Given the description of an element on the screen output the (x, y) to click on. 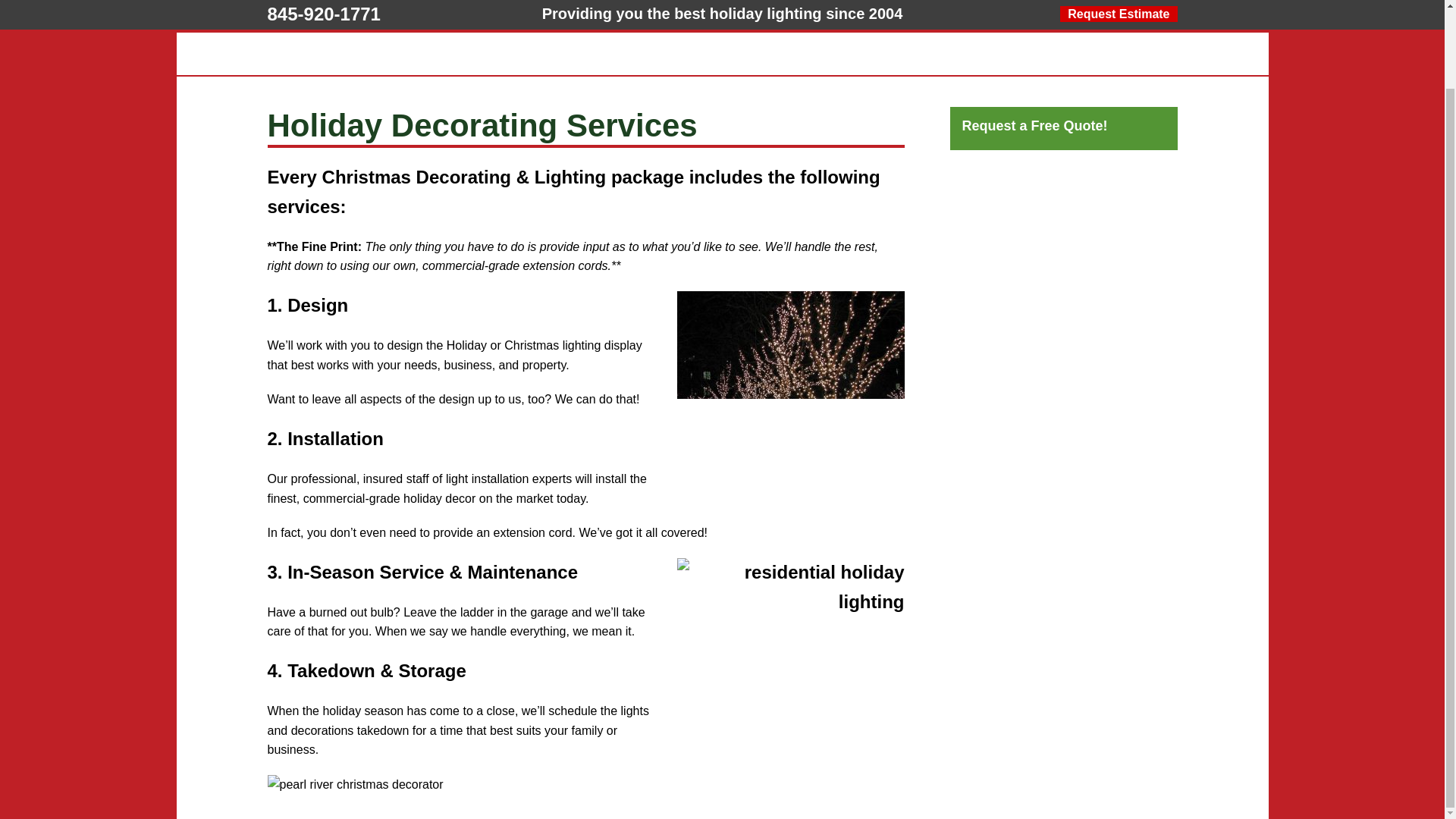
SERVICE AREA (956, 15)
GALLERY (537, 15)
HOLIDAY DECORATING SERVICES (349, 15)
REQUEST AN ESTIMATE (1132, 15)
